Given the description of an element on the screen output the (x, y) to click on. 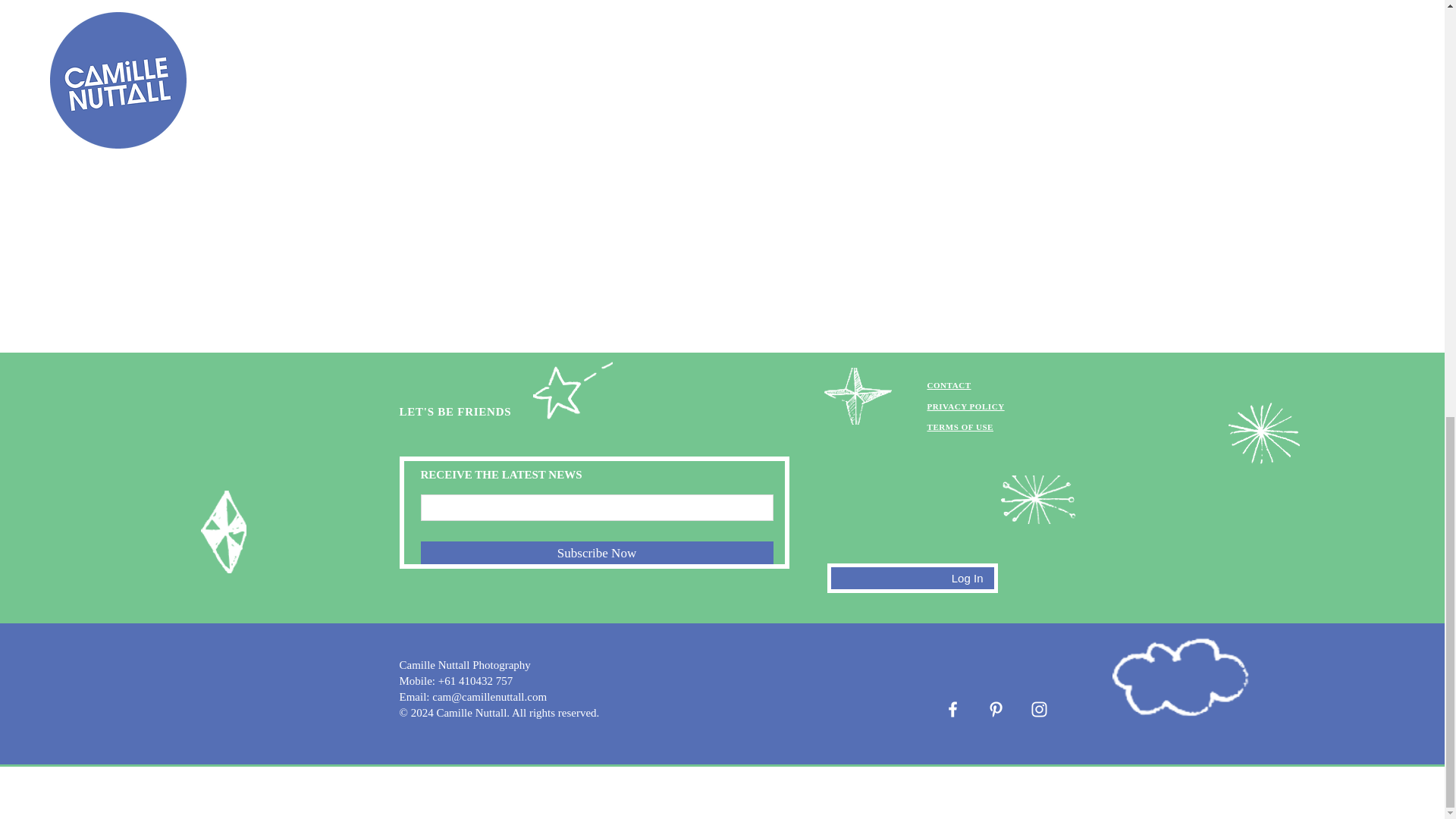
Subscribe Now (596, 552)
Log In (967, 577)
PRIVACY POLICY (965, 406)
TERMS OF USE (959, 426)
CONTACT (948, 384)
